Given the description of an element on the screen output the (x, y) to click on. 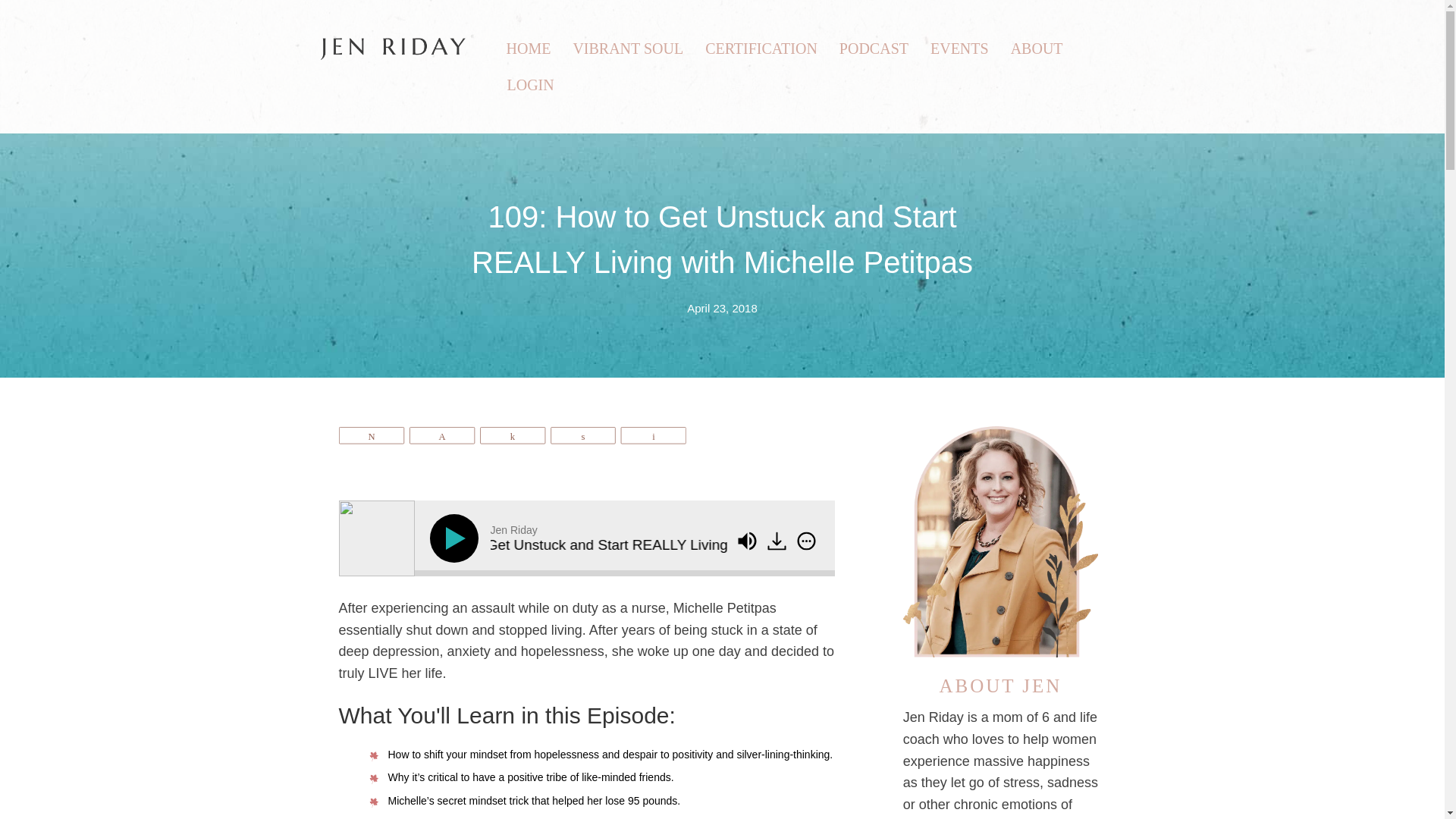
More (806, 540)
EVENTS (959, 48)
CERTIFICATION (761, 48)
JR - About 2021 Banner Image-01 (999, 539)
ABOUT (1037, 48)
Download (777, 541)
Download (776, 540)
PODCAST (873, 48)
logo (392, 47)
HOME (529, 48)
